Given the description of an element on the screen output the (x, y) to click on. 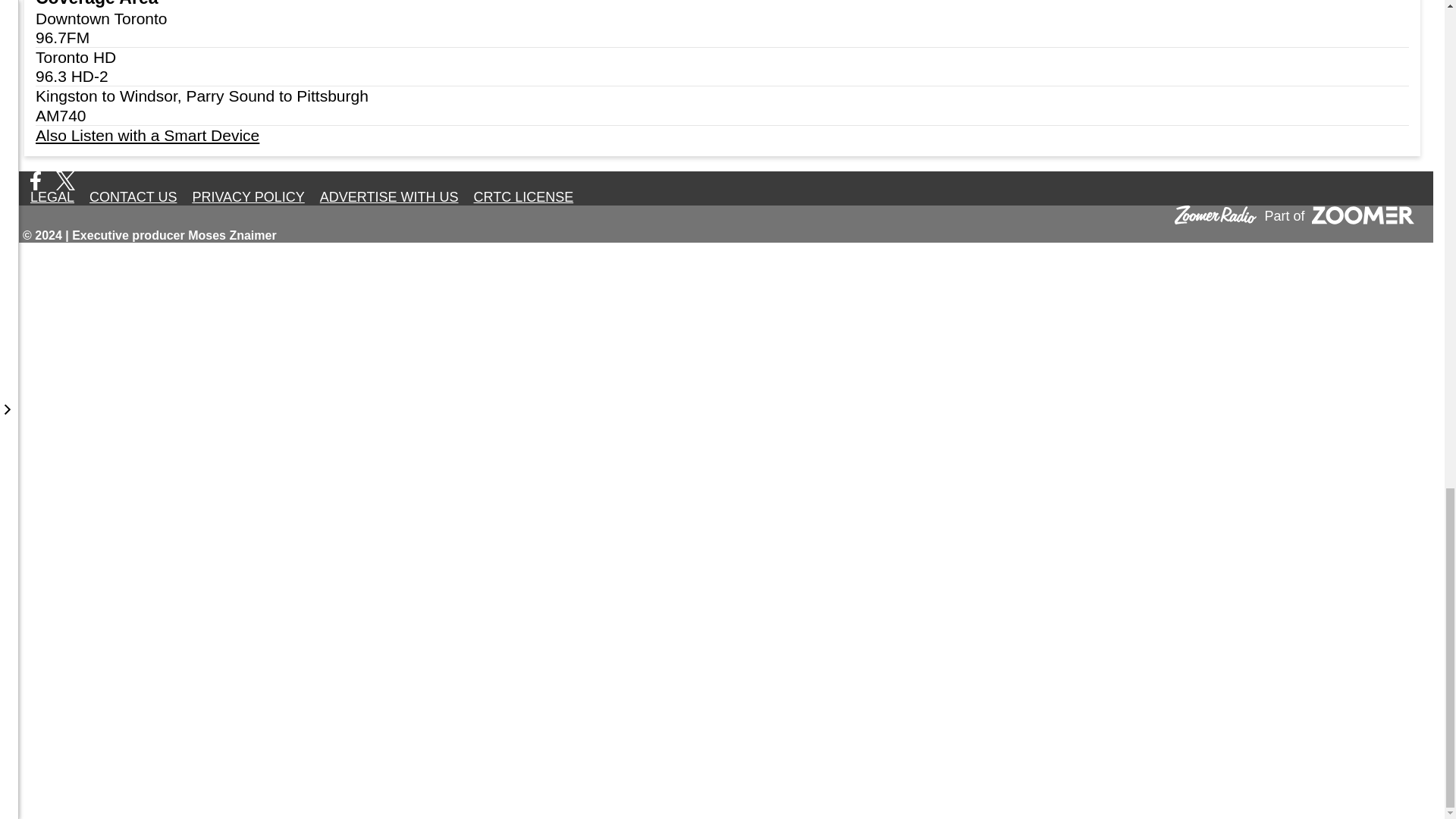
CRTC LICENSE (522, 196)
LEGAL (52, 196)
PRIVACY POLICY (247, 196)
Also Listen with a Smart Device (721, 135)
CONTACT US (132, 196)
ADVERTISE WITH US (389, 196)
